Given the description of an element on the screen output the (x, y) to click on. 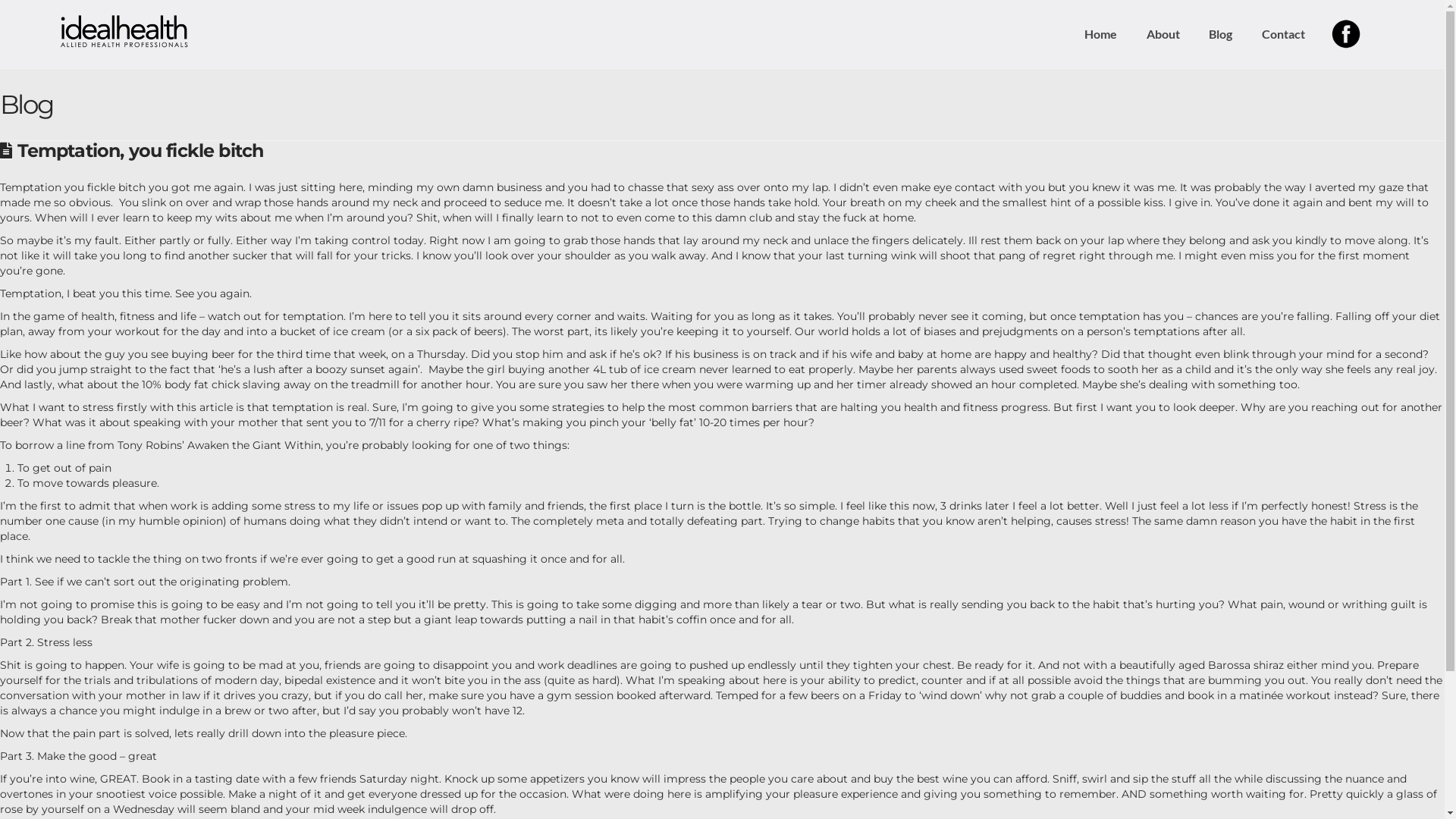
Blog Element type: text (1219, 34)
About Element type: text (1162, 34)
Contact Element type: text (1282, 34)
Home Element type: text (1100, 34)
